Given the description of an element on the screen output the (x, y) to click on. 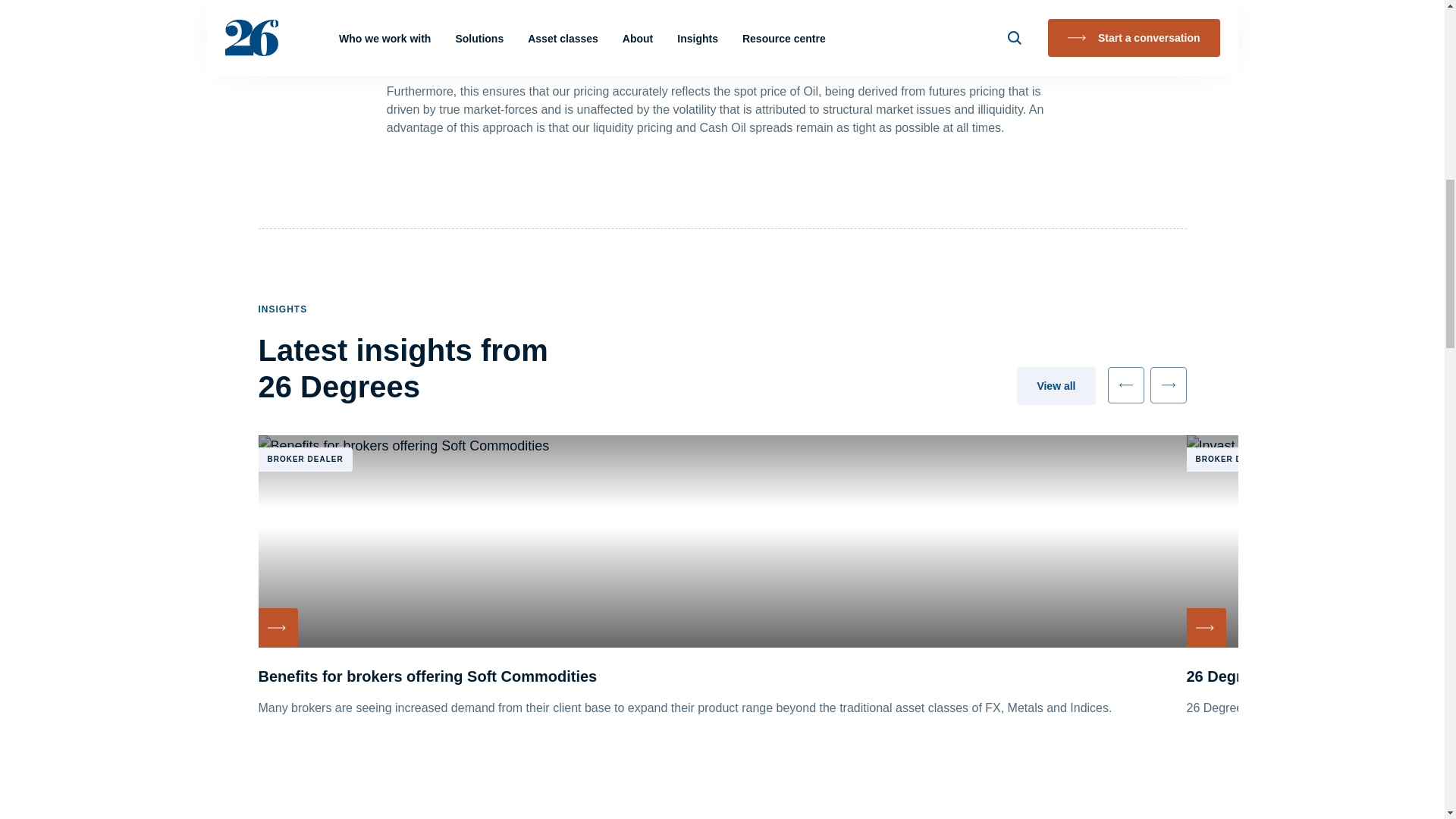
Next Slide (1168, 384)
Previous Slide (1124, 384)
